Given the description of an element on the screen output the (x, y) to click on. 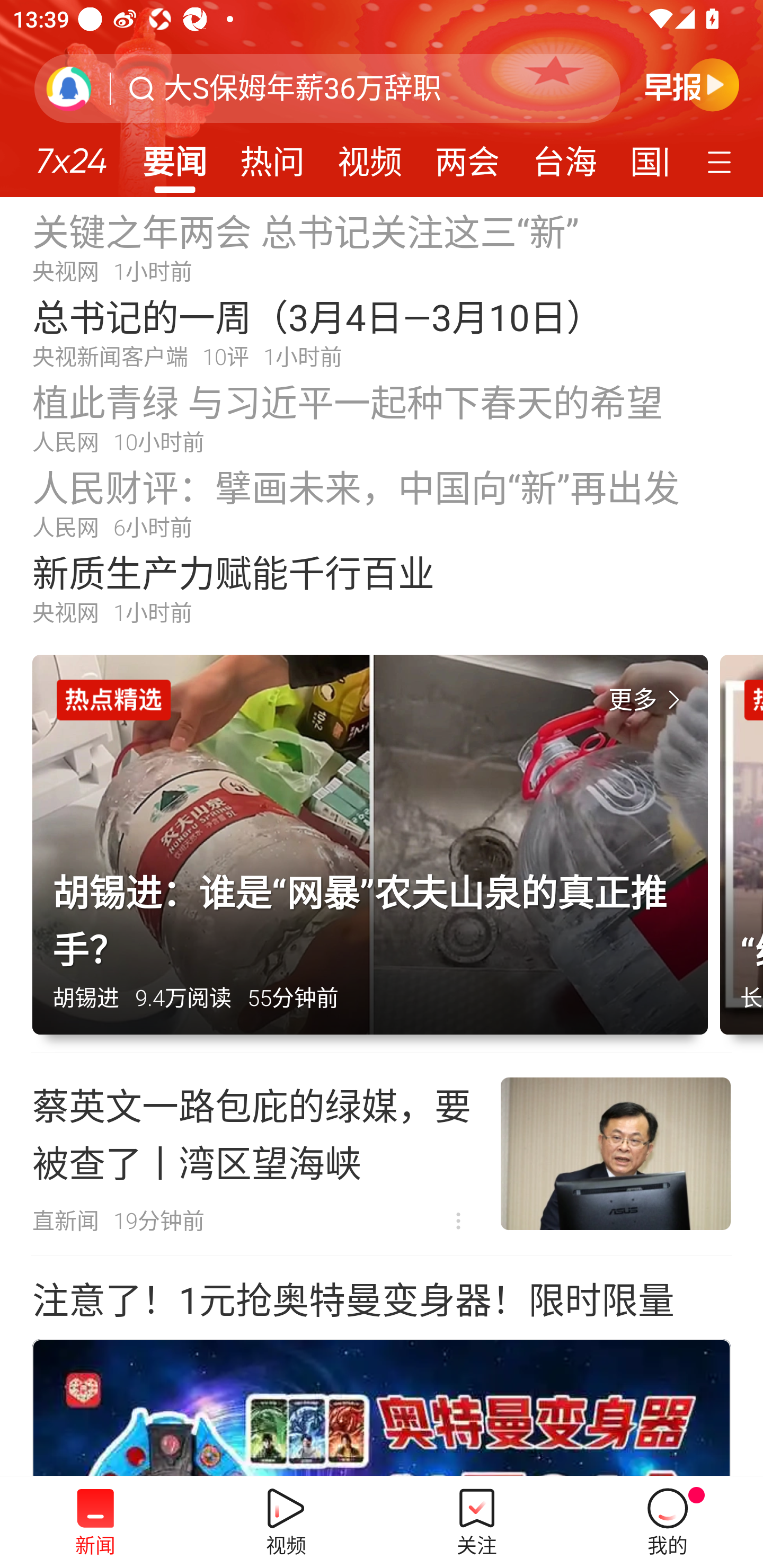
腾讯新闻 (381, 98)
早晚报 (691, 84)
刷新 (68, 88)
大S保姆年薪36万辞职 (302, 88)
7x24 (70, 154)
要闻 (174, 155)
热问 (272, 155)
视频 (369, 155)
两会 (466, 155)
台海 (564, 155)
 定制频道 (721, 160)
关键之年两会 总书记关注这三“新” 央视网 1小时前 (381, 245)
总书记的一周（3月4日—3月10日） 央视新闻客户端 10评 1小时前 (381, 331)
植此青绿 与习近平一起种下春天的希望 人民网 10小时前 (381, 416)
人民财评：擘画未来，中国向“新”再出发 人民网 6小时前 (381, 502)
新质生产力赋能千行百业 央视网 1小时前 (381, 587)
更多  胡锡进：谁是“网暴”农夫山泉的真正推手？ 胡锡进   9.4万阅读   55分钟前 (376, 853)
更多  (648, 699)
蔡英文一路包庇的绿媒，要被查了丨湾区望海峡 直新闻 19分钟前  不感兴趣 (381, 1153)
 不感兴趣 (458, 1221)
注意了！1元抢奥特曼变身器！限时限量 (353, 1301)
